Given the description of an element on the screen output the (x, y) to click on. 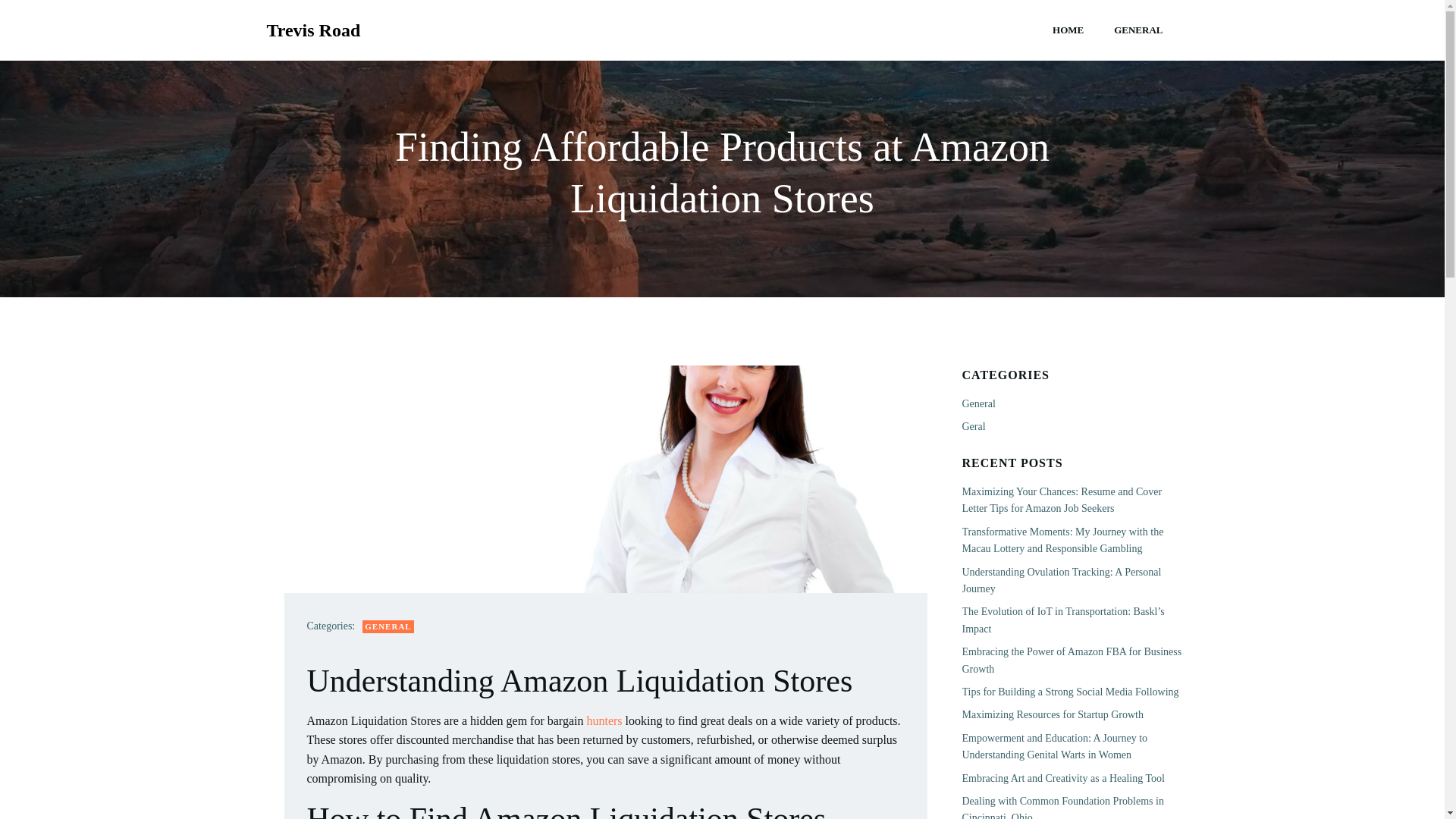
GENERAL (387, 626)
Maximizing Resources for Startup Growth (1051, 714)
HOME (1067, 29)
GENERAL (1137, 29)
hunters (603, 720)
Tips for Building a Strong Social Media Following (1068, 691)
Embracing the Power of Amazon FBA for Business Growth (1070, 660)
General (977, 403)
